Given the description of an element on the screen output the (x, y) to click on. 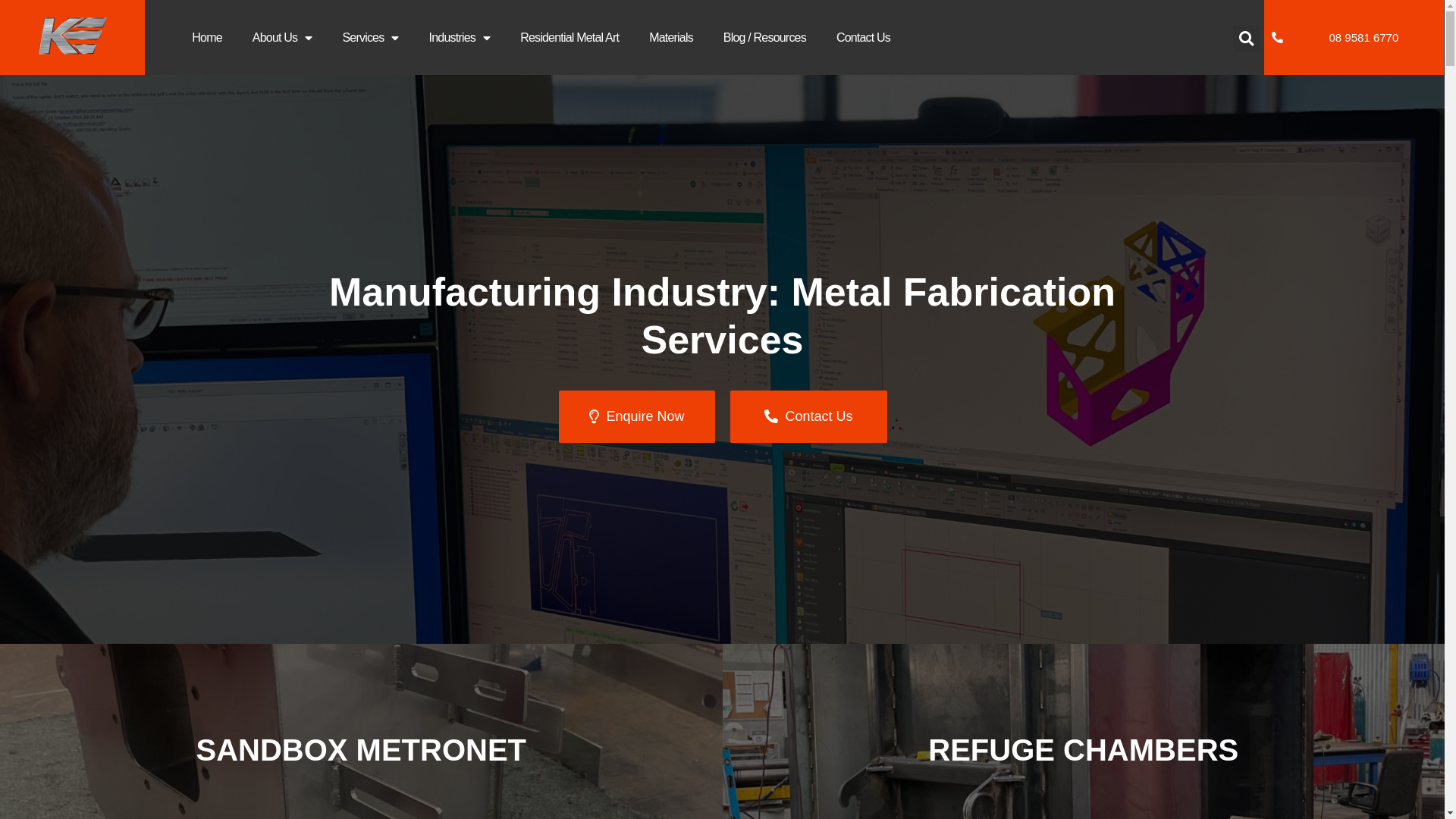
Contact Us Element type: text (807, 416)
About Us Element type: text (282, 36)
Materials Element type: text (670, 36)
Contact Us Element type: text (863, 36)
Home Element type: text (206, 36)
Blog / Resources Element type: text (764, 36)
08 9581 6770 Element type: text (1353, 37)
Residential Metal Art Element type: text (569, 36)
Enquire Now Element type: text (636, 416)
Industries Element type: text (459, 36)
Services Element type: text (369, 36)
